Given the description of an element on the screen output the (x, y) to click on. 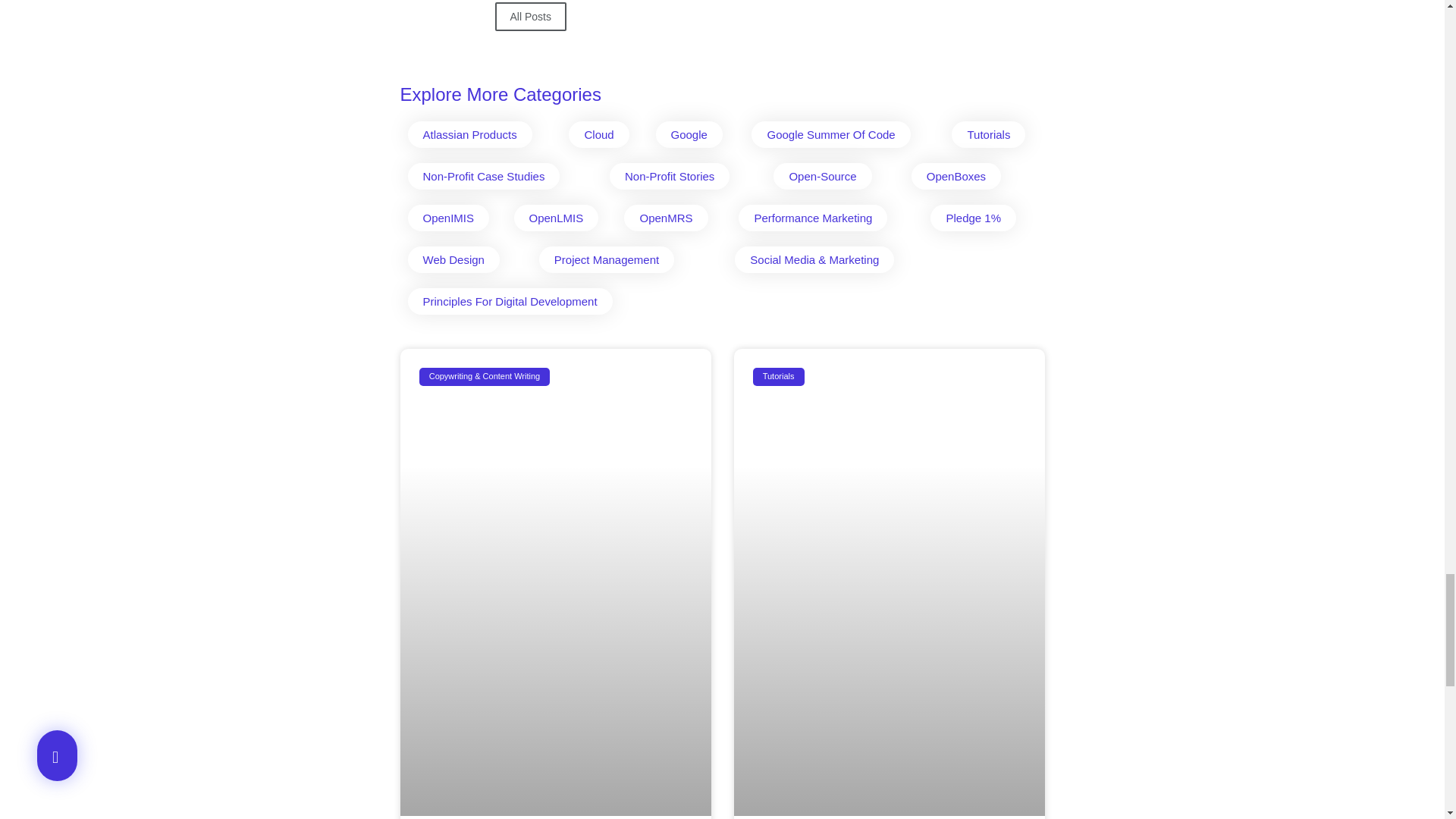
Google (688, 134)
Cloud (598, 134)
Google Summer Of Code (830, 134)
Atlassian Products (469, 134)
Non-Profit Stories (669, 175)
Tutorials (988, 134)
Non-Profit Case Studies (483, 175)
All Posts (530, 16)
